Given the description of an element on the screen output the (x, y) to click on. 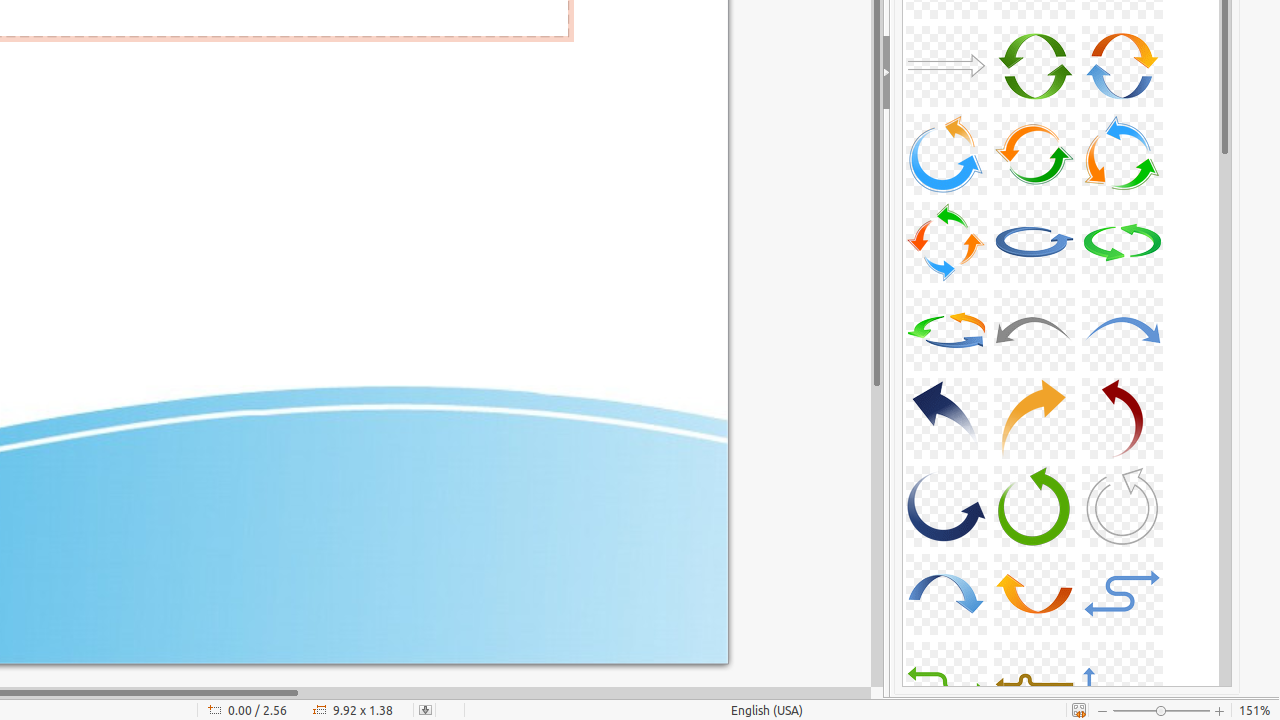
A27-CurvedArrow-DarkRed Element type: list-item (1122, 417)
A32-CurvedArrow-Orange Element type: list-item (1034, 594)
A20-CircleArrow-LightBlue Element type: list-item (1034, 242)
A21-CircleArrow-Green Element type: list-item (1122, 242)
A18-CircleArrow Element type: list-item (1122, 154)
